Given the description of an element on the screen output the (x, y) to click on. 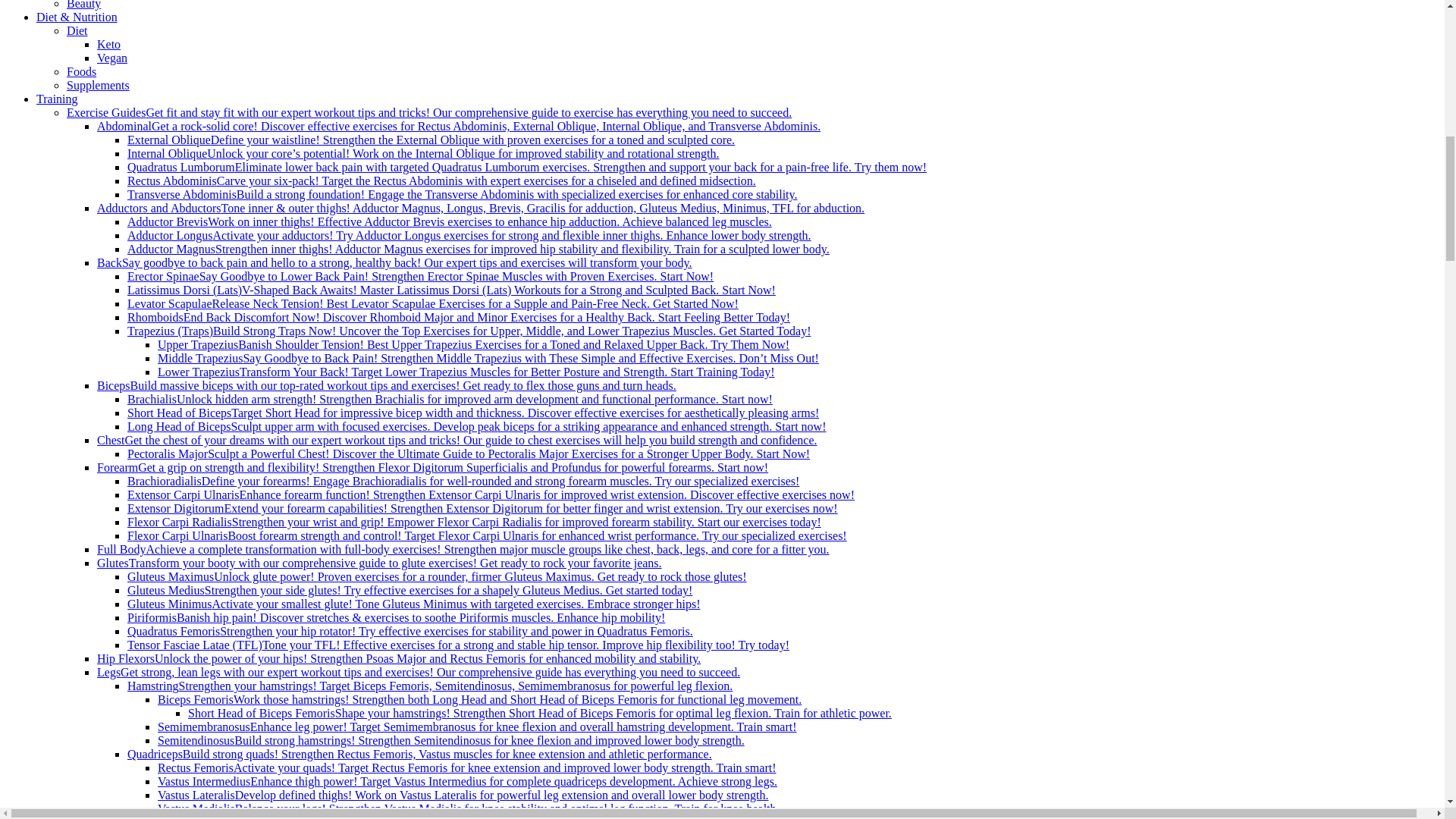
Foods (81, 71)
Training (57, 98)
Diet (76, 30)
Supplements (97, 84)
